Given the description of an element on the screen output the (x, y) to click on. 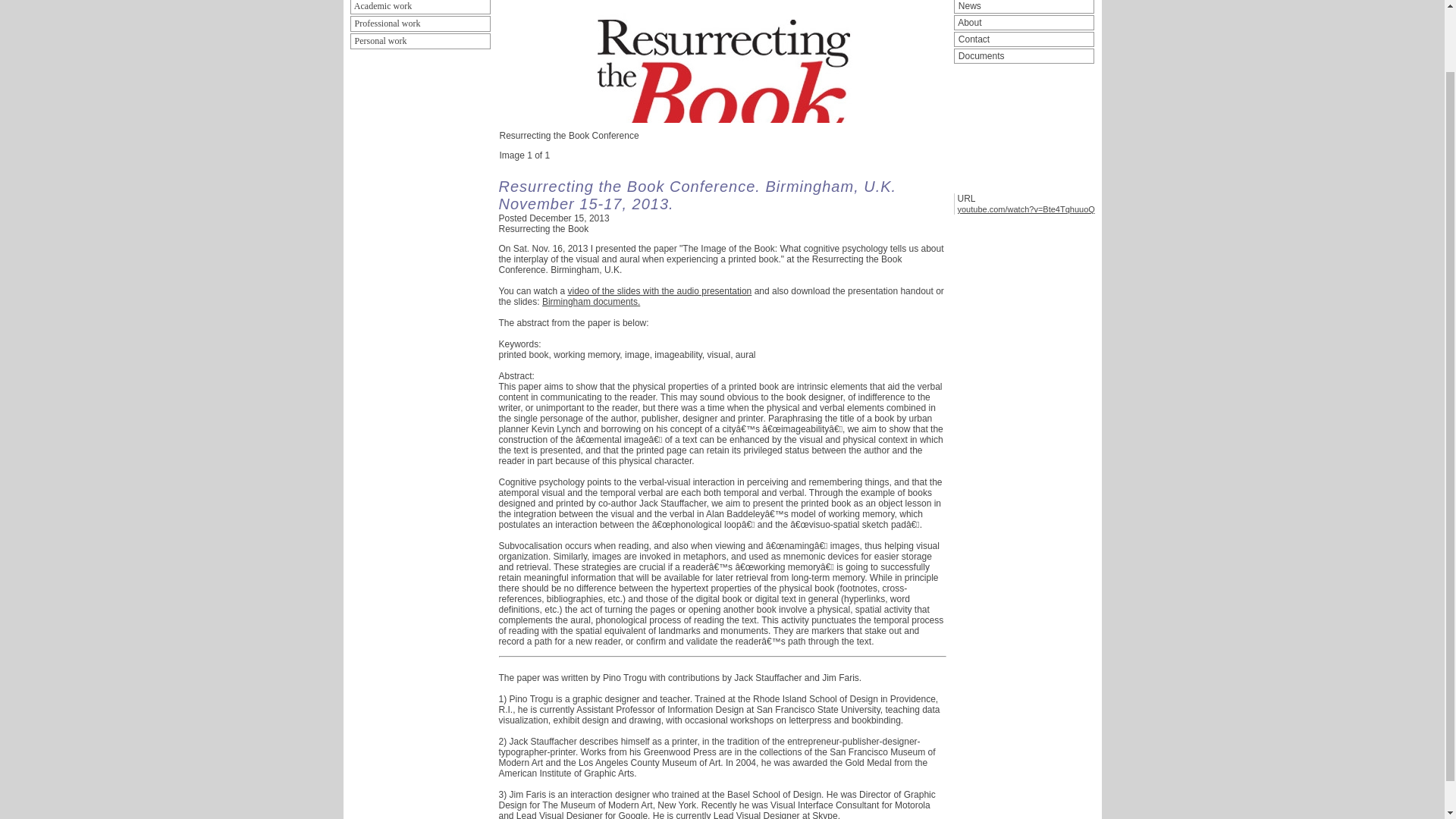
 News (1023, 6)
Birmingham documents. (590, 301)
 About (1023, 22)
 Documents (1023, 55)
 Contact (1023, 38)
video of the slides with the audio presentation (659, 290)
resurrecting the book :: Resurrecting the Book Conference (721, 65)
